Given the description of an element on the screen output the (x, y) to click on. 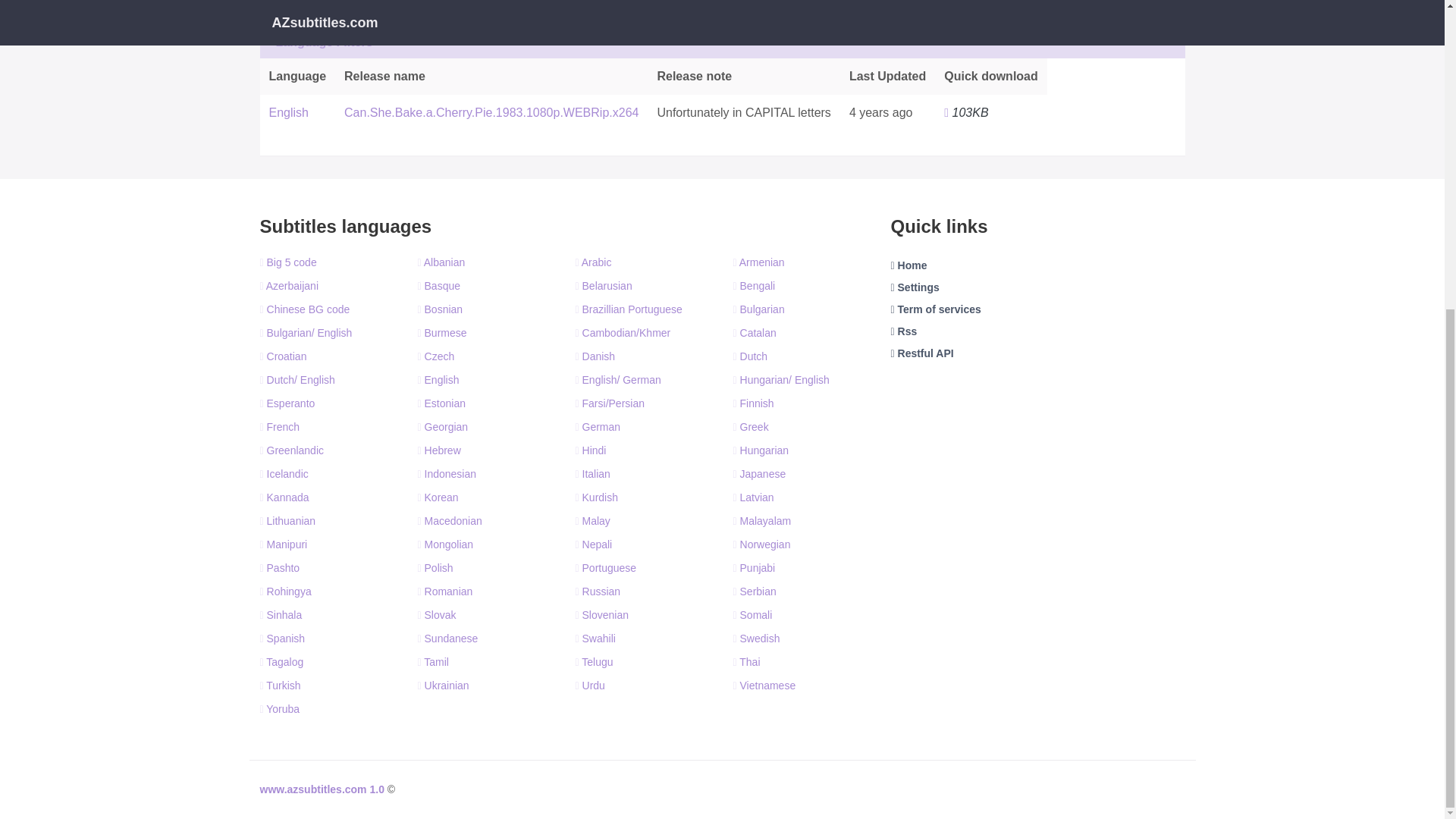
Big 5 code (287, 262)
Brazillian Portuguese (628, 309)
Arabic (593, 262)
Danish (594, 356)
Can.She.Bake.a.Cherry.Pie.1983.1080p.WEBRip.x264 (491, 112)
Armenian (758, 262)
Bosnian (439, 309)
Burmese (440, 332)
English (287, 112)
Language Filters (329, 41)
